Given the description of an element on the screen output the (x, y) to click on. 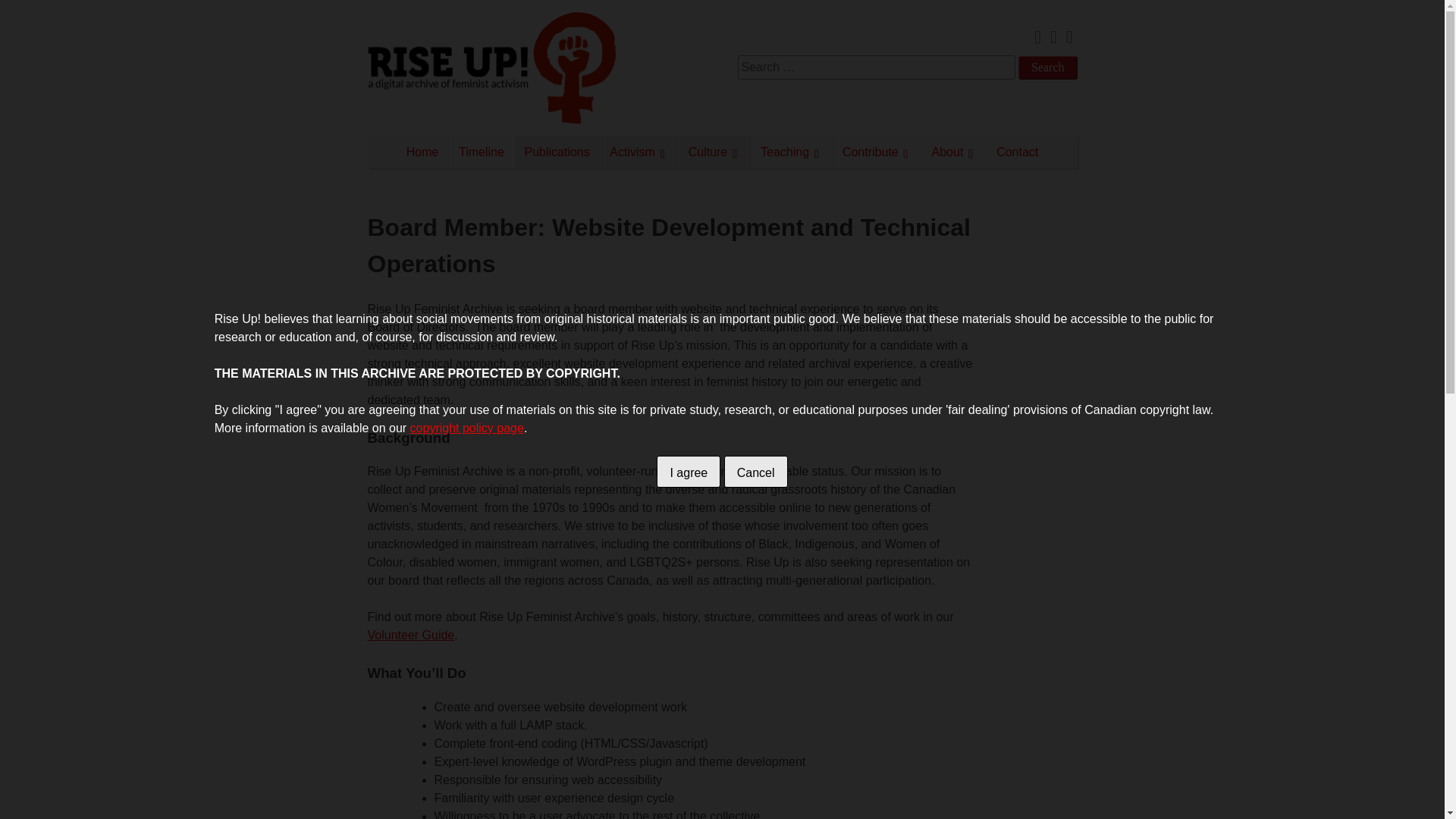
Contact (1017, 151)
Culture (713, 151)
Search (1047, 67)
About (954, 151)
Cancel (755, 471)
Search (1047, 67)
expand child menu (660, 149)
Contribute (876, 151)
expand child menu (905, 149)
Activism (638, 151)
expand child menu (733, 149)
Home (422, 151)
expand child menu (969, 149)
Timeline (480, 151)
Publications (557, 151)
